Given the description of an element on the screen output the (x, y) to click on. 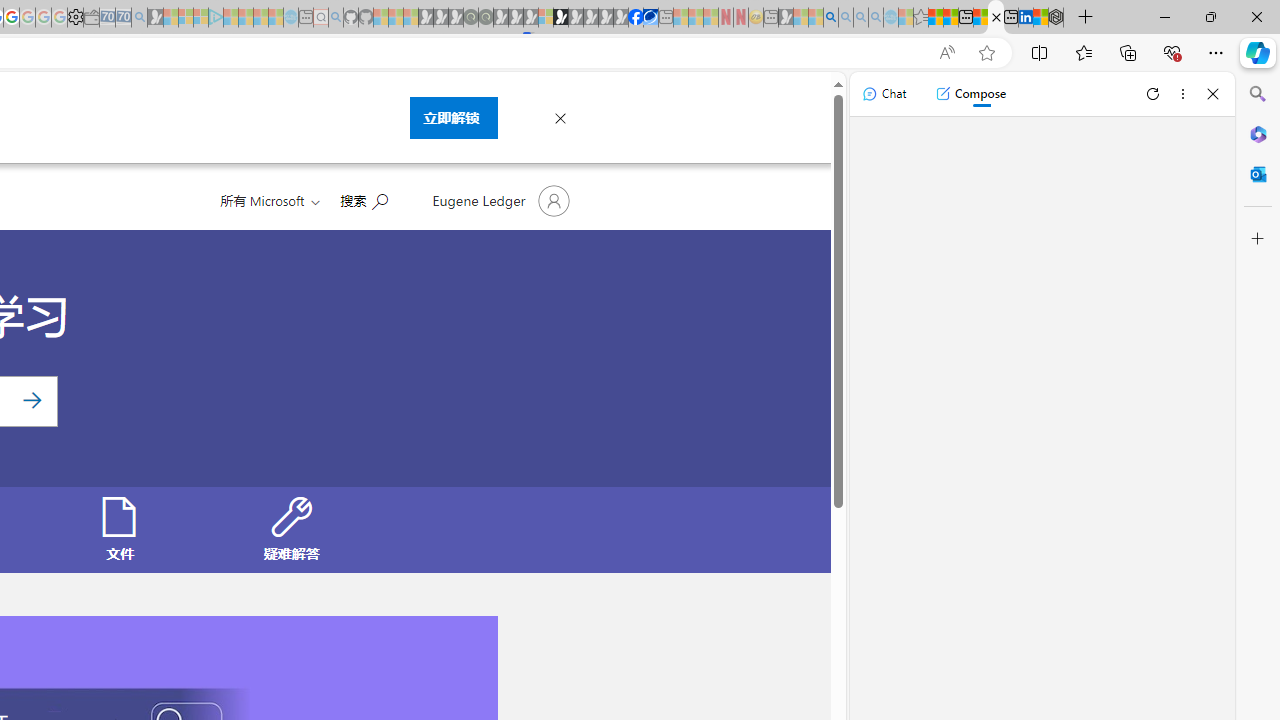
Compose (970, 93)
Sign in to your account - Sleeping (545, 17)
